Given the description of an element on the screen output the (x, y) to click on. 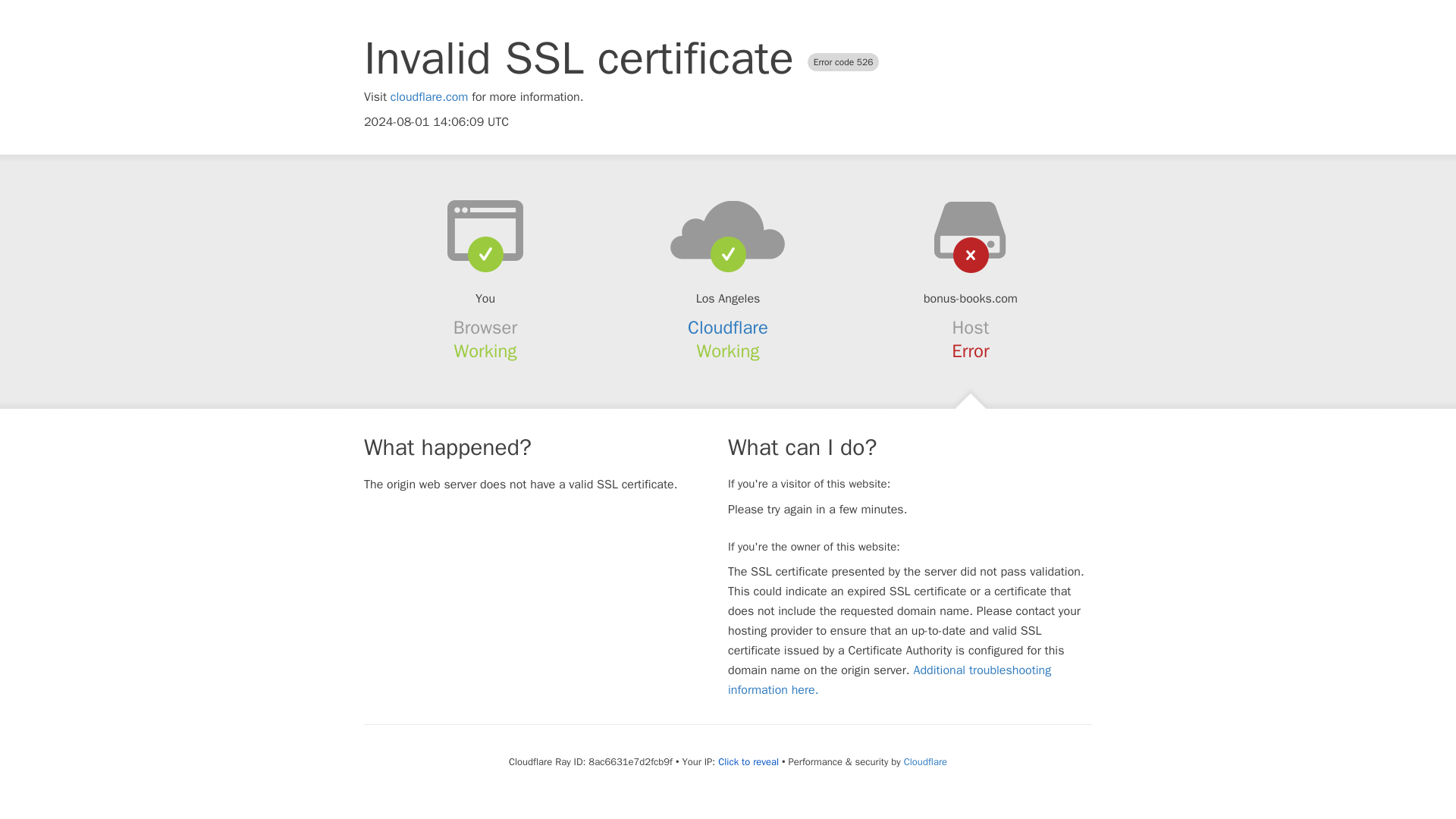
Cloudflare (727, 327)
cloudflare.com (429, 96)
Additional troubleshooting information here. (889, 679)
Click to reveal (747, 762)
Cloudflare (925, 761)
